Given the description of an element on the screen output the (x, y) to click on. 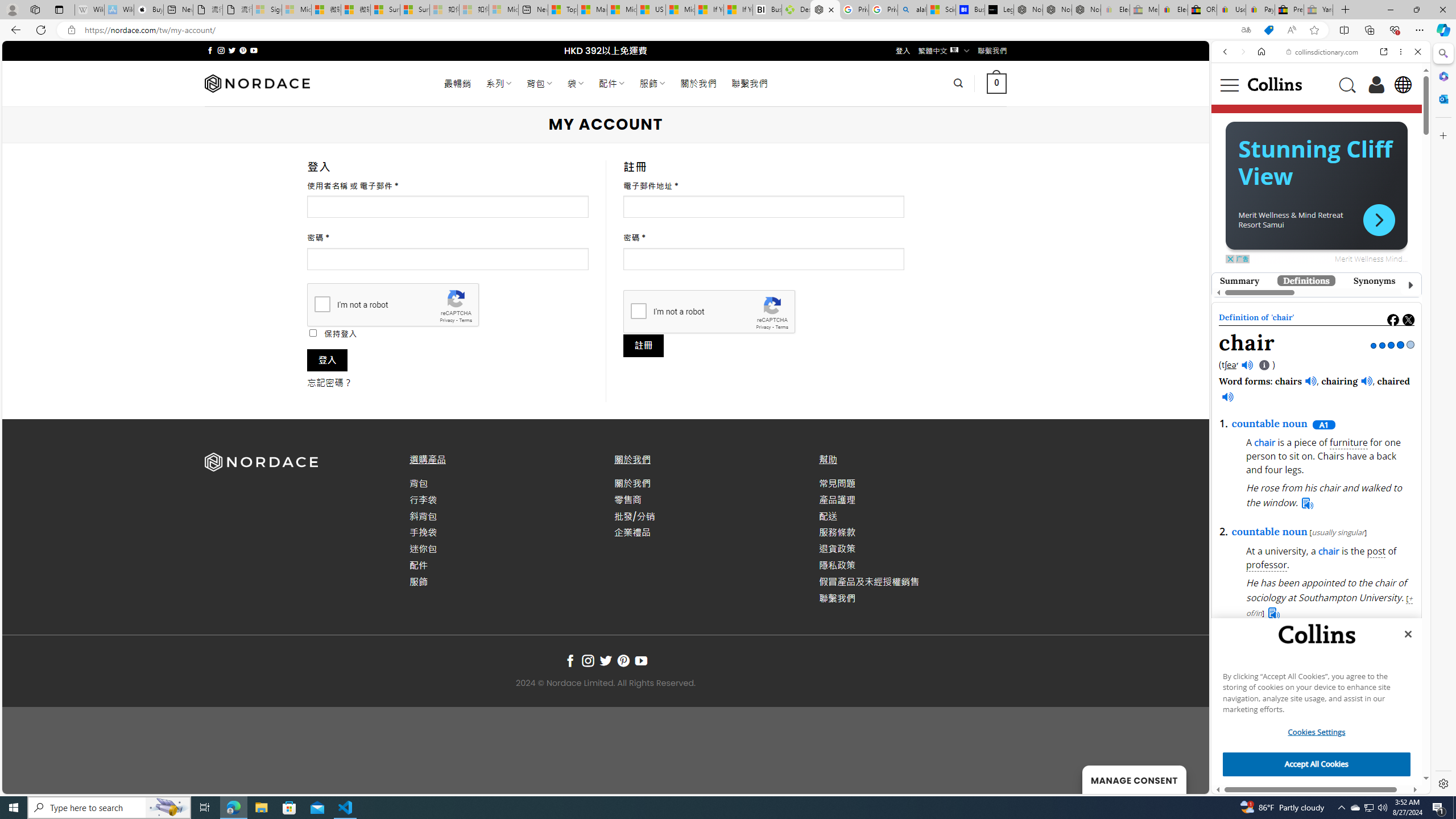
alabama high school quarterback dies - Search (911, 9)
Define (1382, 184)
Enter a word (1289, 184)
Class: ns-vyjj0-e-3 image p9FadeIn (1315, 304)
